Given the description of an element on the screen output the (x, y) to click on. 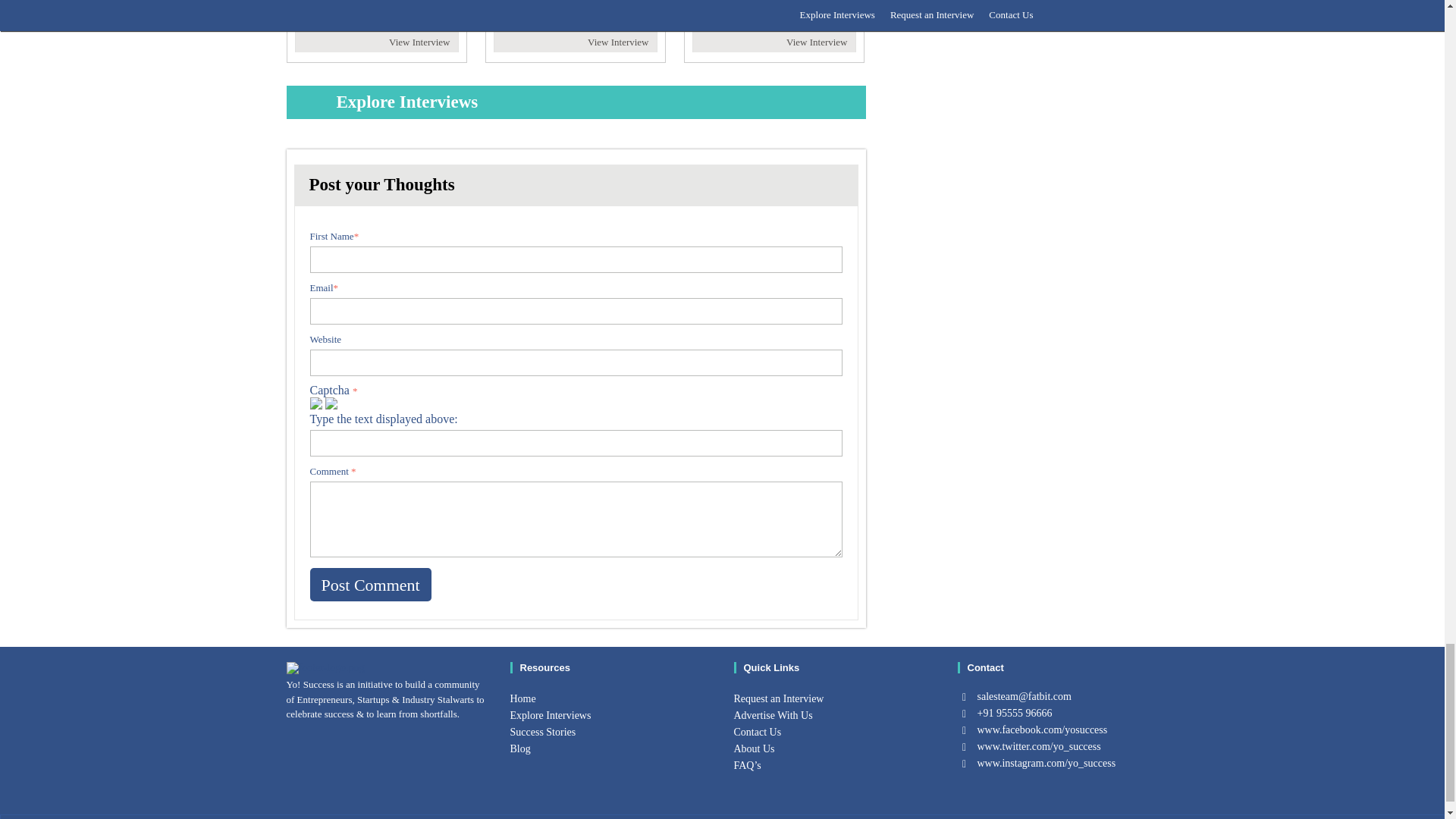
View Interview (816, 40)
Post Comment (369, 584)
View Interview (418, 40)
View Interview (617, 40)
